Given the description of an element on the screen output the (x, y) to click on. 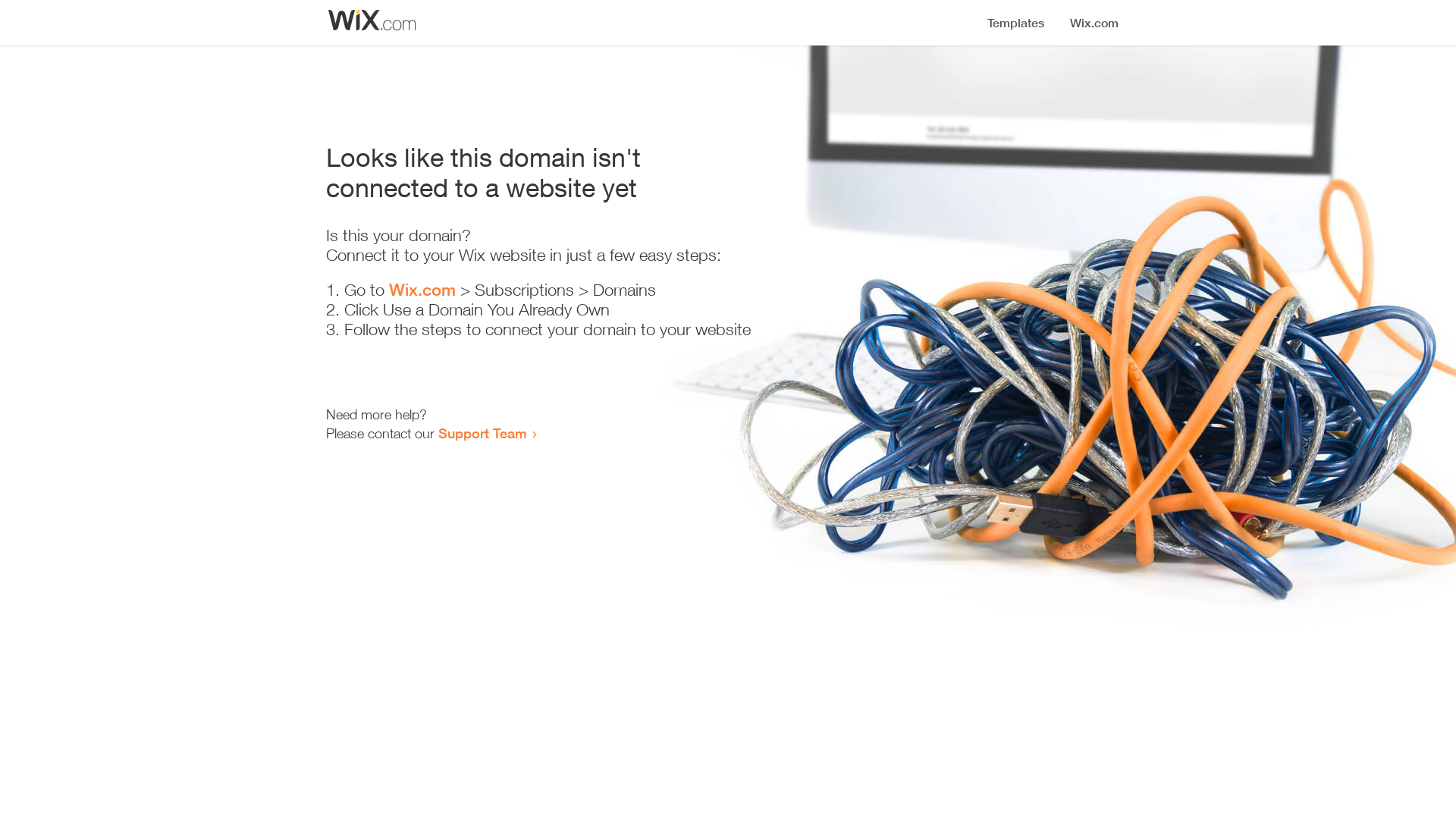
Support Team Element type: text (482, 432)
Wix.com Element type: text (422, 289)
